Given the description of an element on the screen output the (x, y) to click on. 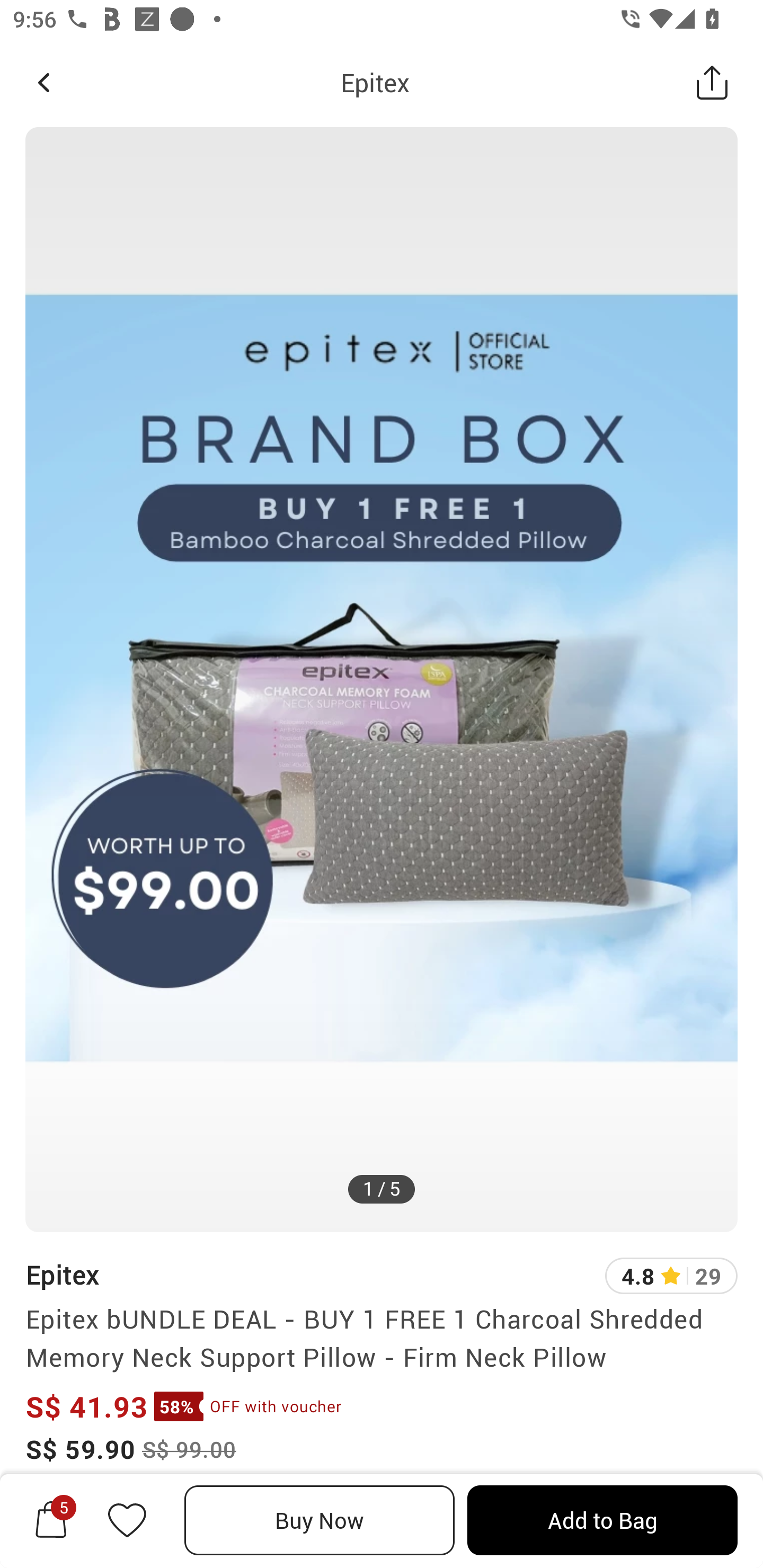
Epitex (375, 82)
Share this Product (711, 82)
Epitex (62, 1274)
4.8 29 (671, 1275)
Buy Now (319, 1519)
Add to Bag (601, 1519)
5 (50, 1520)
